Given the description of an element on the screen output the (x, y) to click on. 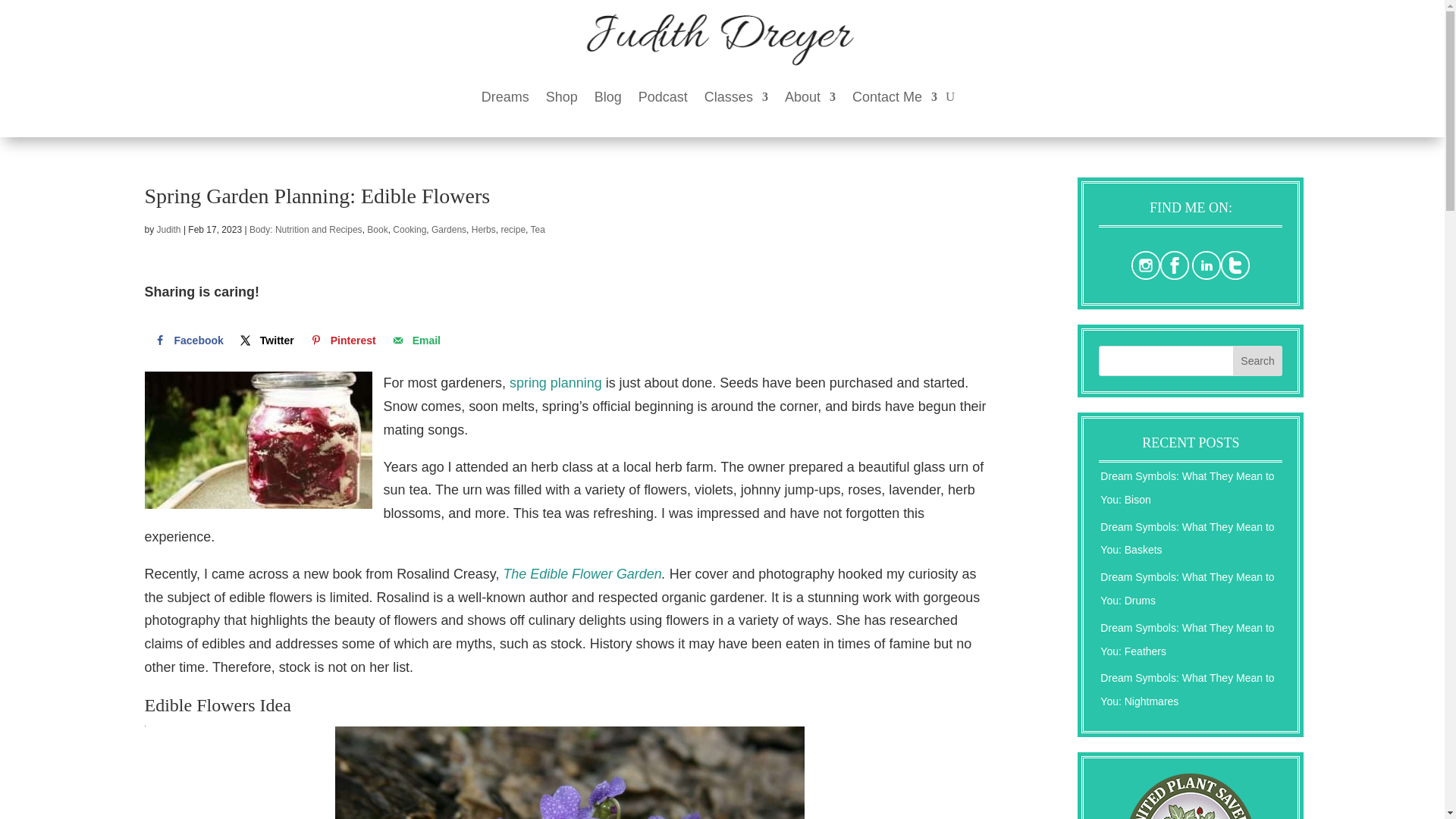
spring planning (555, 382)
Twitter (265, 340)
Send over email (414, 340)
Facebook (187, 340)
Contact Me (894, 96)
Share on X (265, 340)
The Edible Flower Garden (581, 573)
Tea (537, 229)
Search (1257, 360)
Herbs (483, 229)
